Given the description of an element on the screen output the (x, y) to click on. 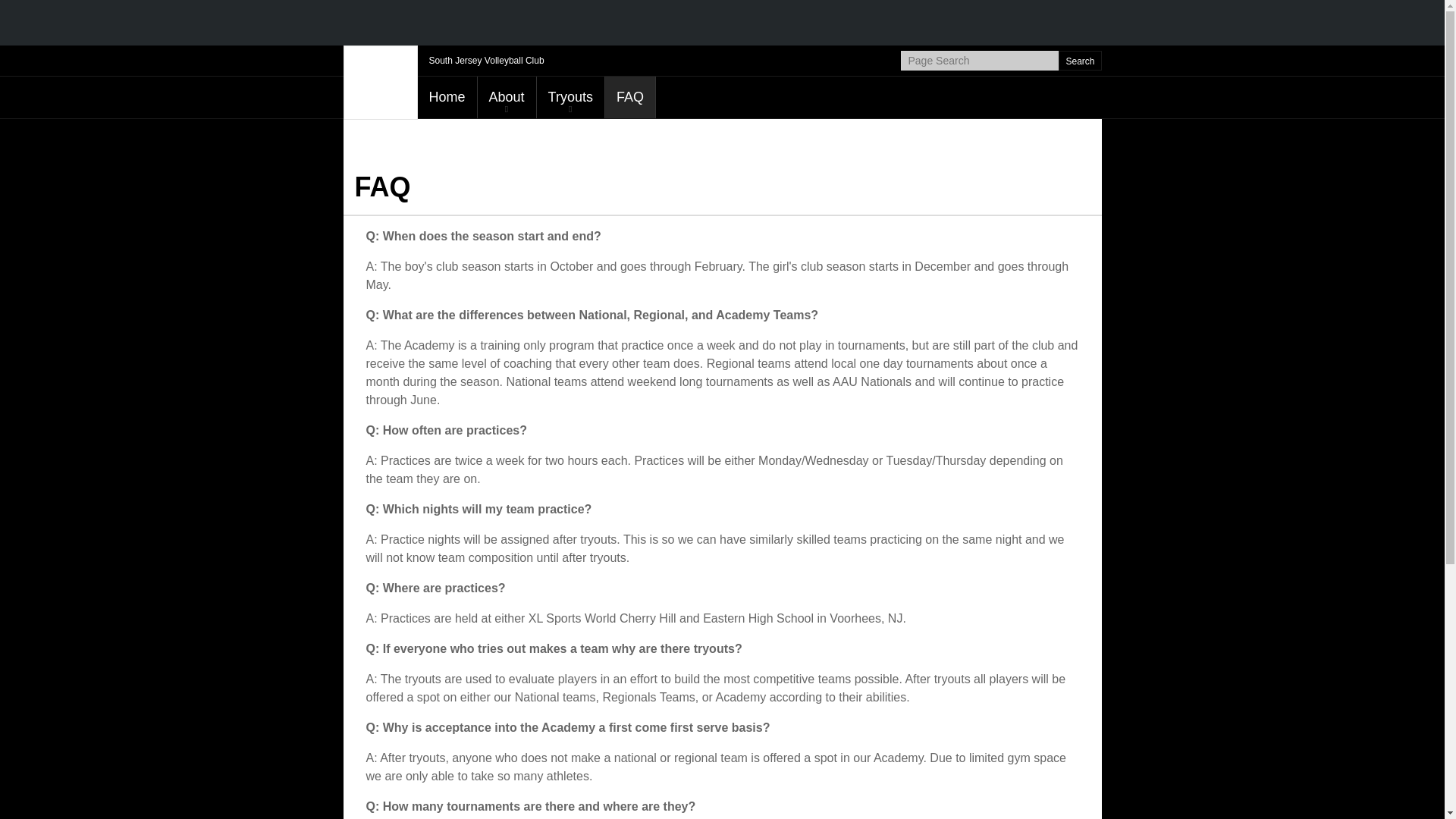
click to go to 'About SJVBC' (506, 96)
Home (446, 96)
click to go to 'Home' (446, 96)
FAQ (630, 96)
About (506, 96)
click to go to 'Tryout Information' (570, 96)
Tryouts (570, 96)
click to go to 'FAQ' (630, 96)
